Given the description of an element on the screen output the (x, y) to click on. 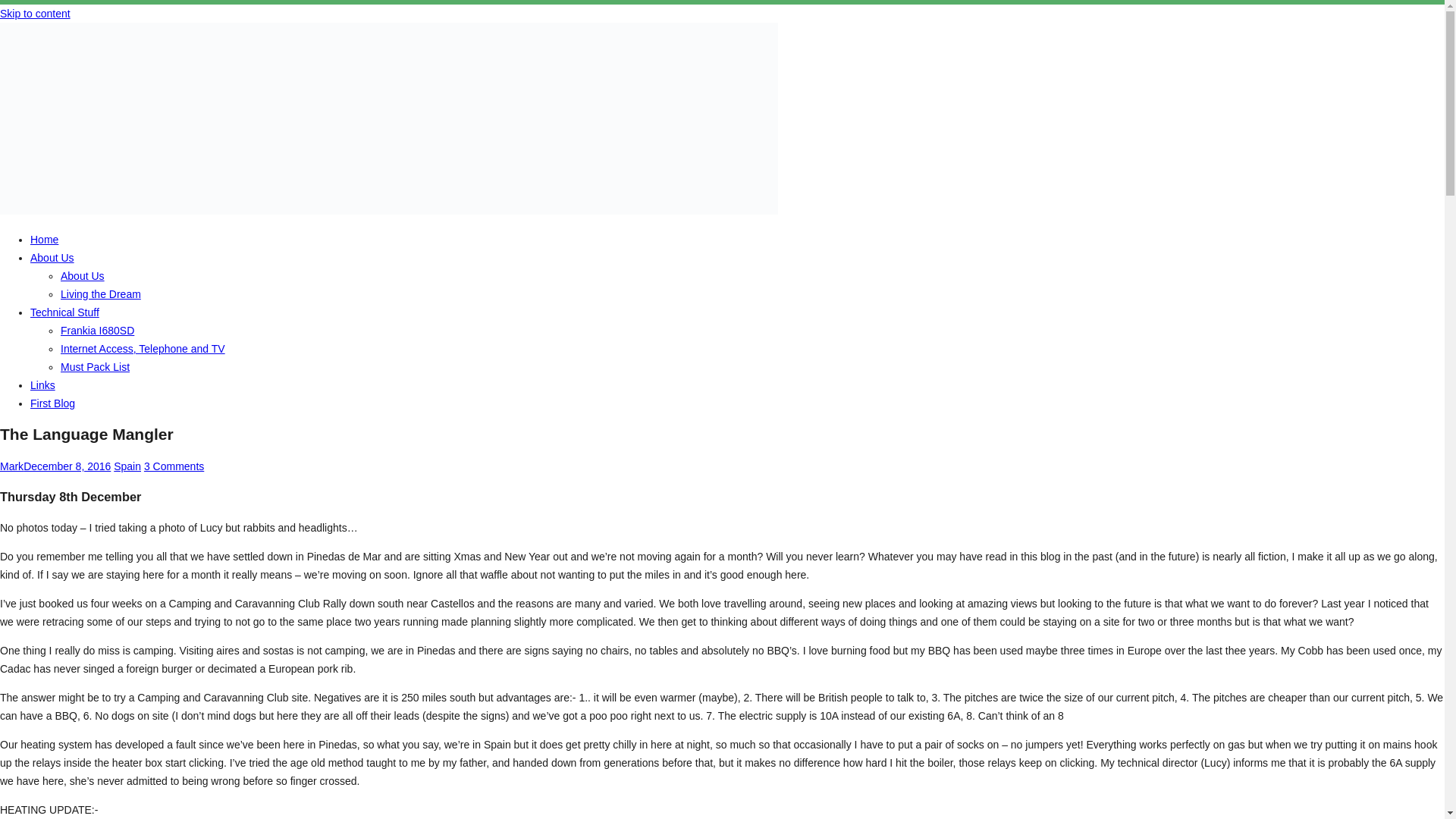
Links (42, 385)
3 Comments (173, 466)
Frankia I680SD (97, 330)
About Us (52, 257)
Mark (11, 466)
Living the Dream (101, 294)
Spain (127, 466)
Must Pack List (95, 367)
Internet Access, Telephone and TV (143, 348)
December 8, 2016 (66, 466)
Skip to content (34, 13)
Home (44, 239)
First Blog (52, 403)
About Us (82, 275)
Technical Stuff (64, 312)
